Given the description of an element on the screen output the (x, y) to click on. 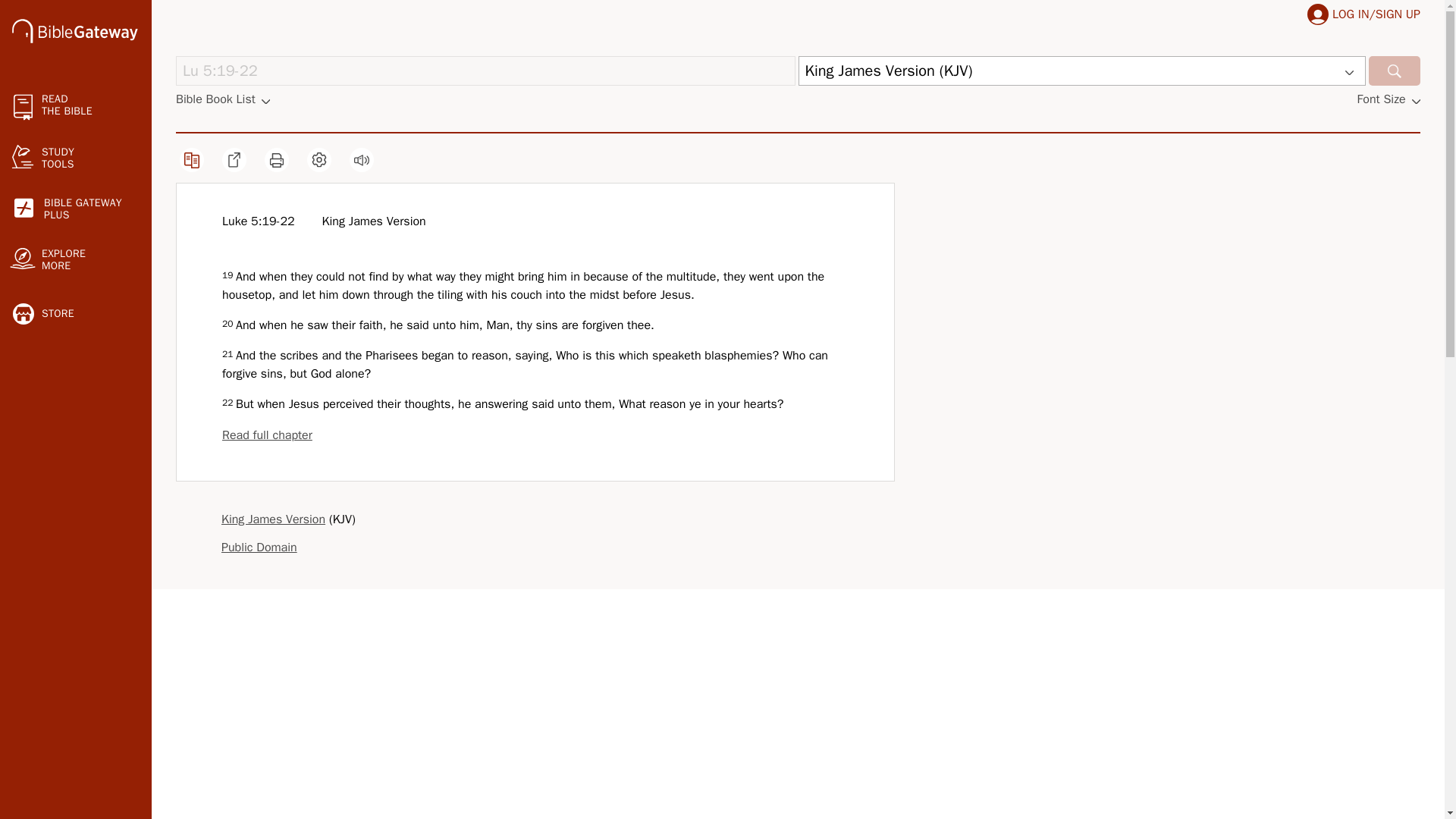
Read full chapter (75, 209)
Listen to Luke 5:19-22 (267, 435)
Bible Book List (361, 159)
Lu 5:19-22 (222, 99)
View Full Chapter (485, 70)
Lu 5:19-22 (267, 435)
King James Version (485, 70)
Public Domain (272, 519)
Bible Gateway logo (259, 547)
account (74, 30)
Bible Gateway logo (1317, 14)
Search (74, 32)
